Given the description of an element on the screen output the (x, y) to click on. 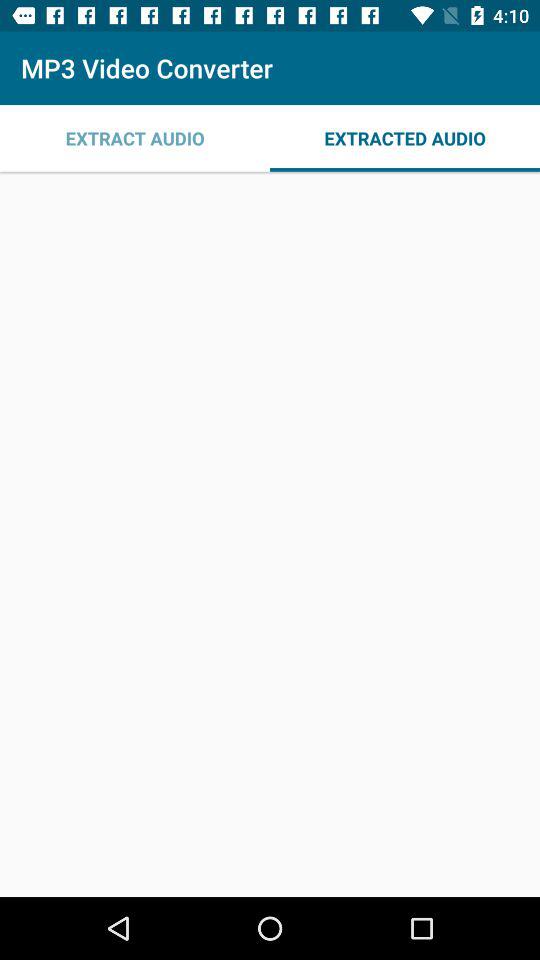
launch the app below mp3 video converter (405, 138)
